Given the description of an element on the screen output the (x, y) to click on. 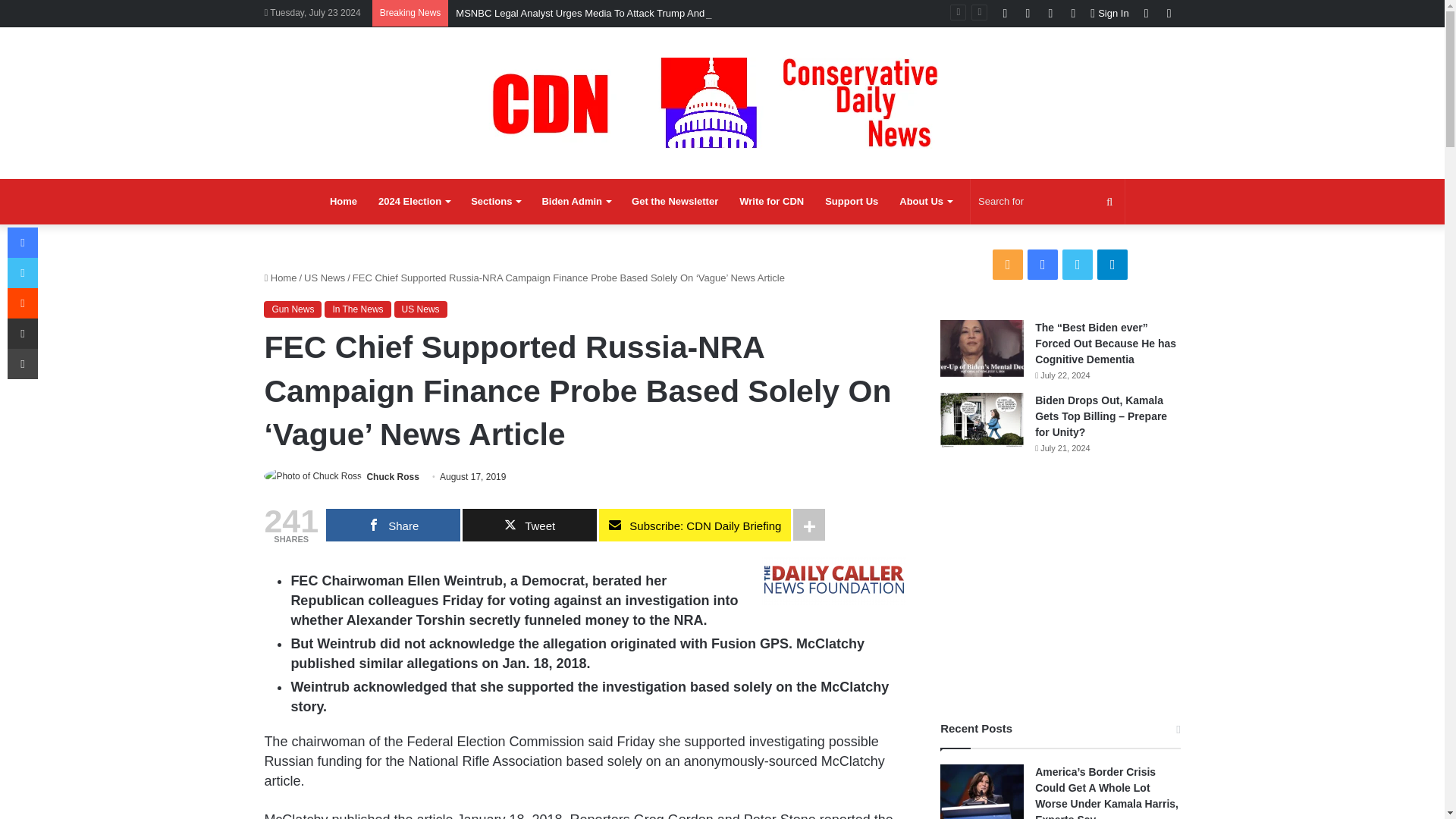
Chuck Ross (392, 476)
Write for CDN (771, 201)
Become a CDN Contributor (771, 201)
Home (343, 201)
Sections (495, 201)
Support Us (850, 201)
About Us (925, 201)
Search for (1047, 201)
Conservative Daily News (721, 102)
Get the Newsletter (675, 201)
Biden Admin (576, 201)
2024 Election (414, 201)
Support CDN With a Small Donation (850, 201)
